Given the description of an element on the screen output the (x, y) to click on. 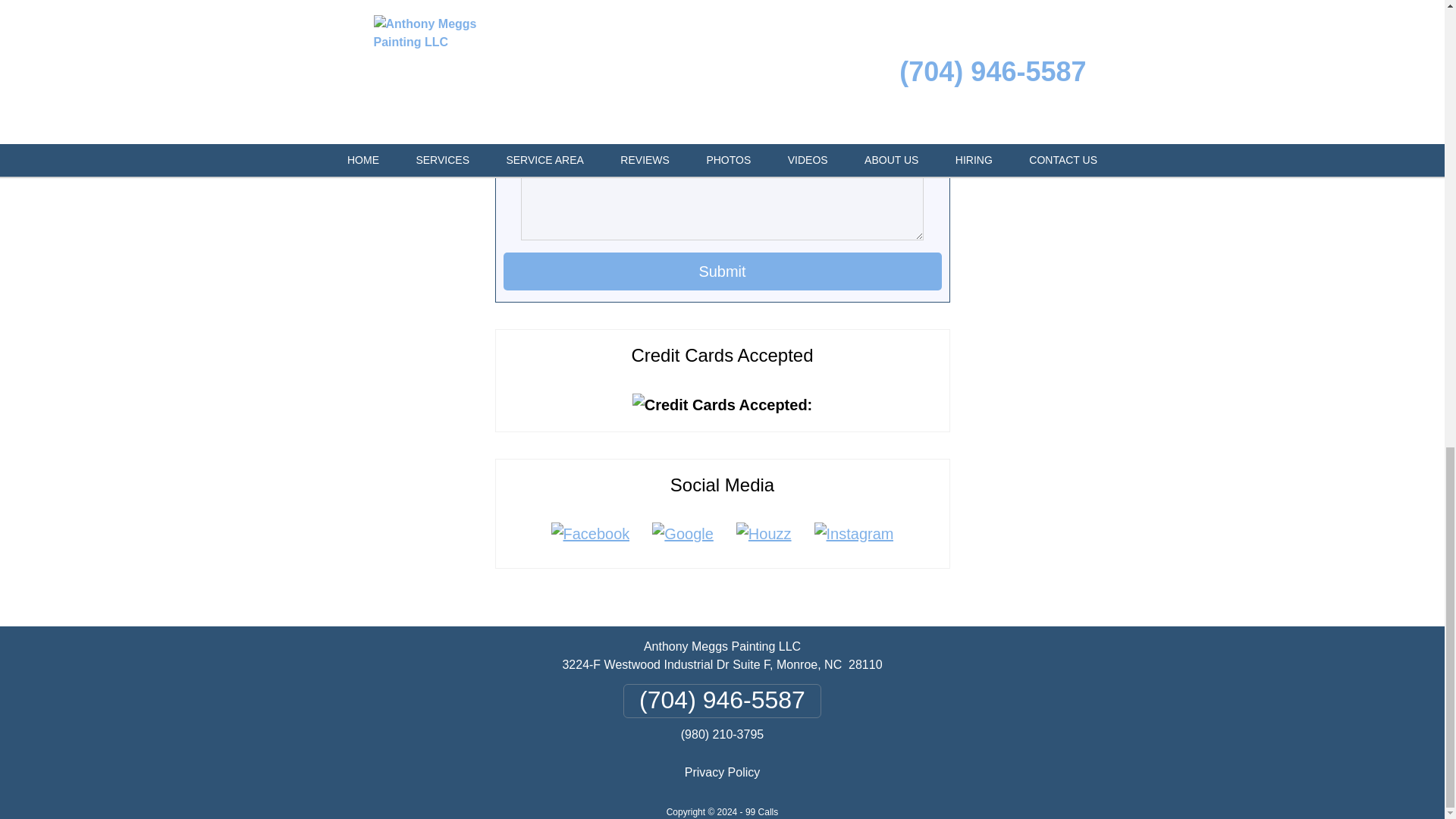
Houzz (764, 533)
Instagram (854, 533)
Submit (722, 271)
Google (682, 533)
Facebook (591, 533)
